Given the description of an element on the screen output the (x, y) to click on. 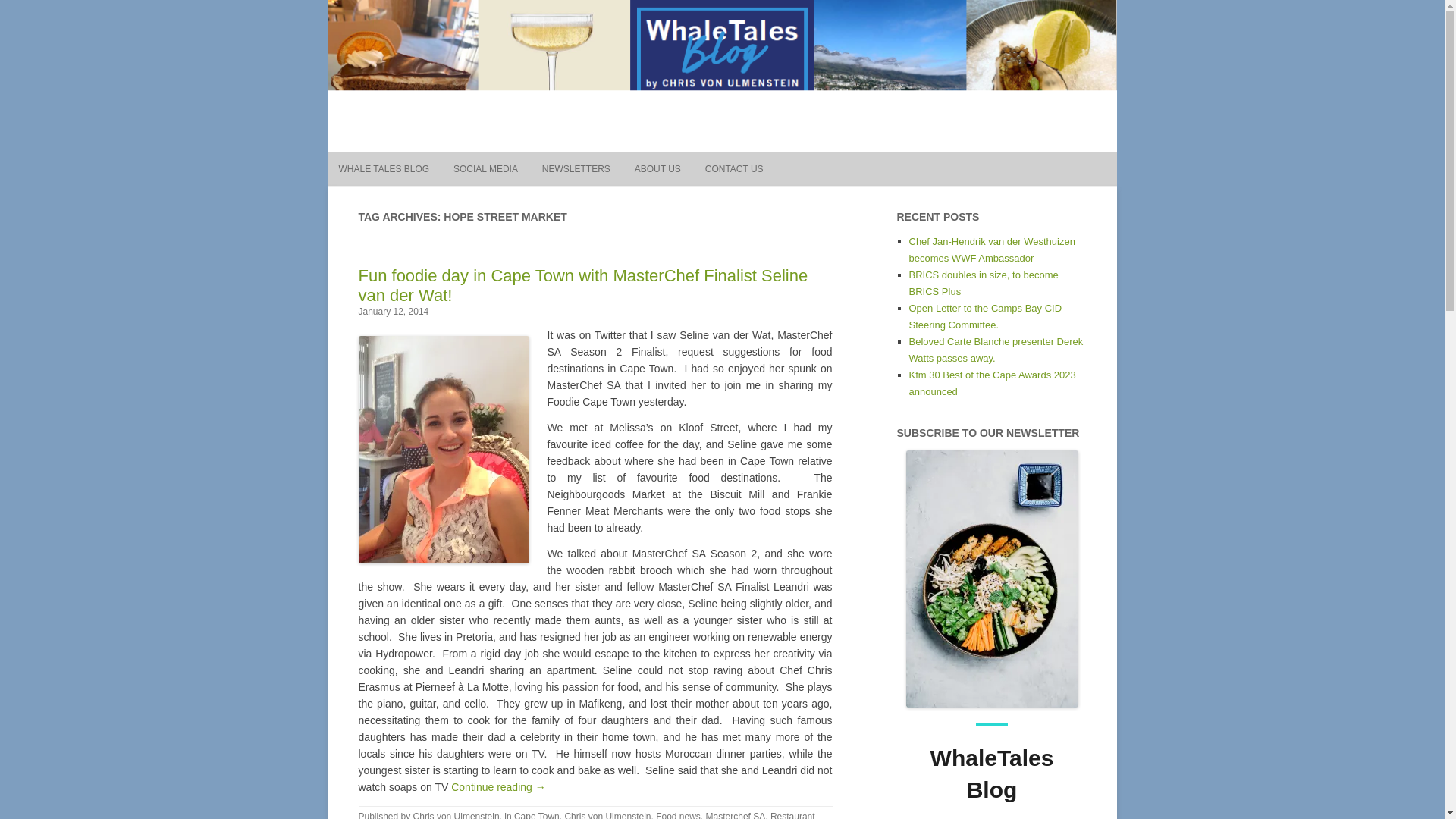
SOCIAL MEDIA (485, 168)
Skip to content (757, 157)
Masterchef SA (735, 815)
Chef Jan-Hendrik van der Westhuizen becomes WWF Ambassador (991, 249)
Skip to content (757, 157)
Search (777, 122)
Restaurant news (585, 815)
10:14 am (393, 311)
